Given the description of an element on the screen output the (x, y) to click on. 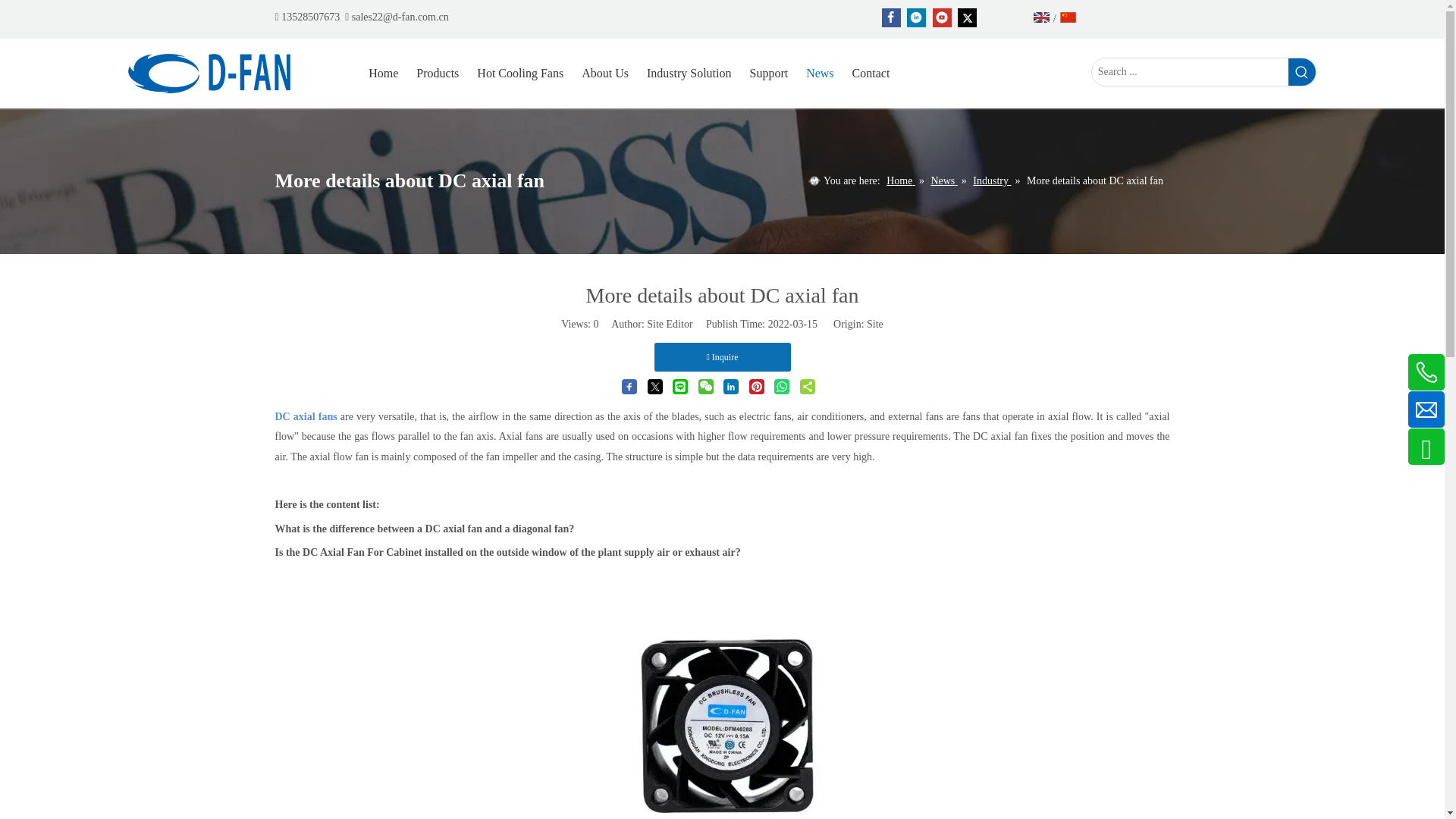
Industry Solution (689, 73)
Hot Cooling Fans (520, 73)
Facebook (889, 17)
Linkedin (916, 17)
Products (437, 73)
About Us (604, 73)
Youtube (942, 17)
Twitter (967, 17)
Xingdong logo (219, 73)
